Given the description of an element on the screen output the (x, y) to click on. 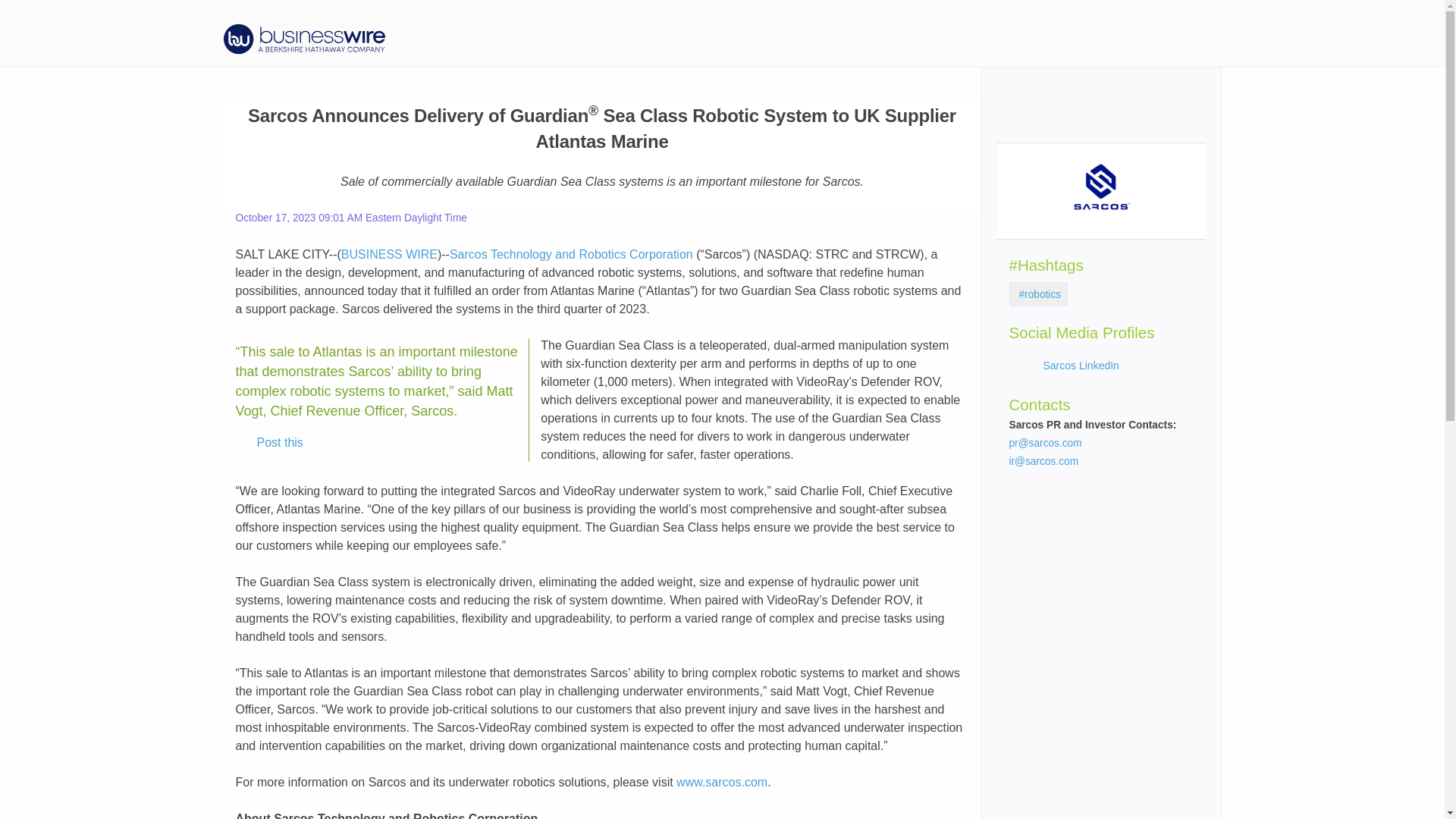
BUSINESS WIRE (389, 254)
Sarcos Technology and Robotics Corporation (571, 254)
Post this (269, 442)
www.sarcos.com (722, 781)
Sarcos LinkedIn (1081, 365)
